Given the description of an element on the screen output the (x, y) to click on. 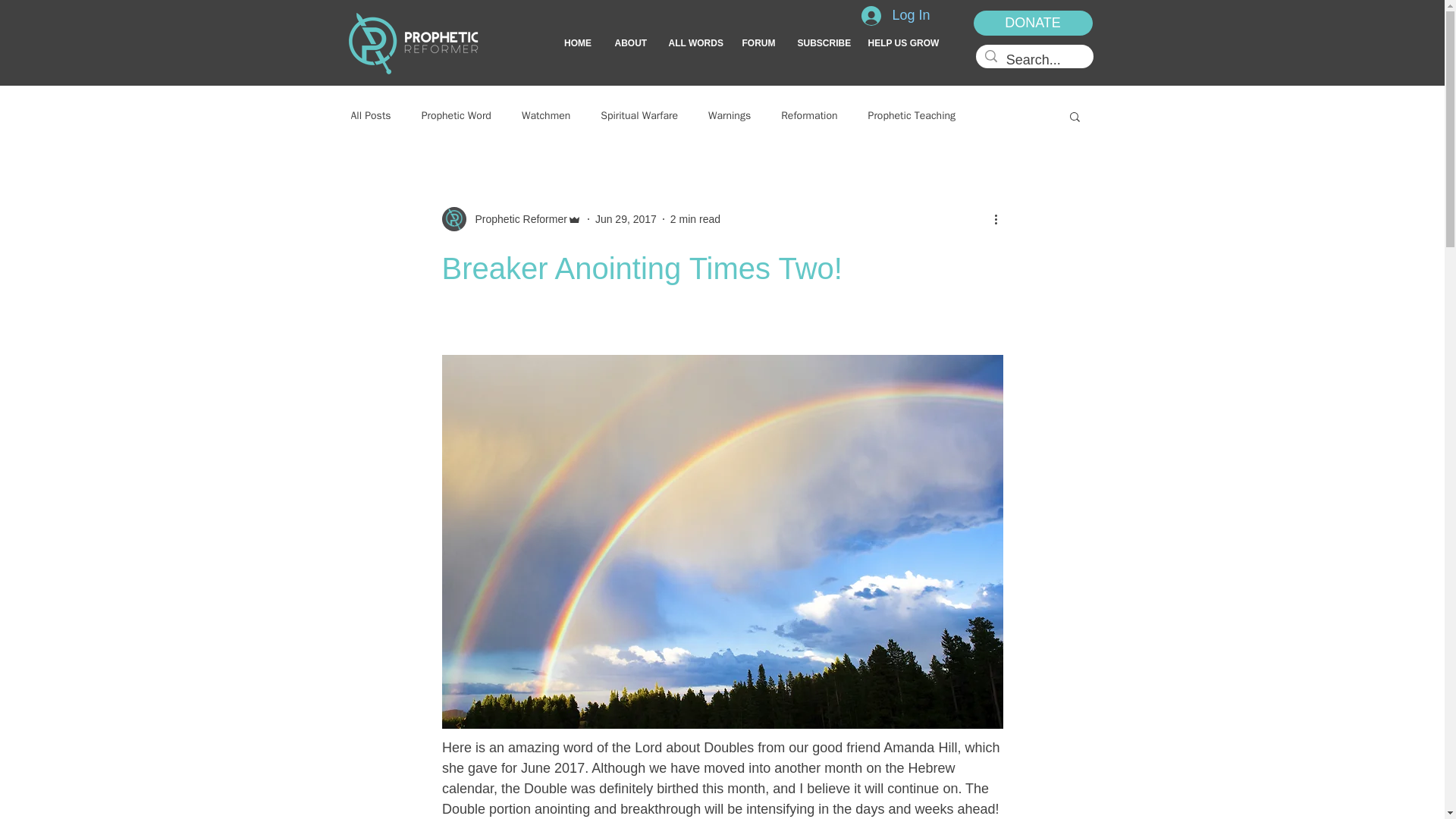
Reformation (808, 115)
Prophetic Reformer3.png (413, 43)
All Posts (370, 115)
ABOUT (631, 43)
HOME (576, 43)
Prophetic Reformer (515, 218)
Log In (895, 15)
ALL WORDS (693, 43)
DONATE (1033, 23)
Prophetic Teaching (911, 115)
